Given the description of an element on the screen output the (x, y) to click on. 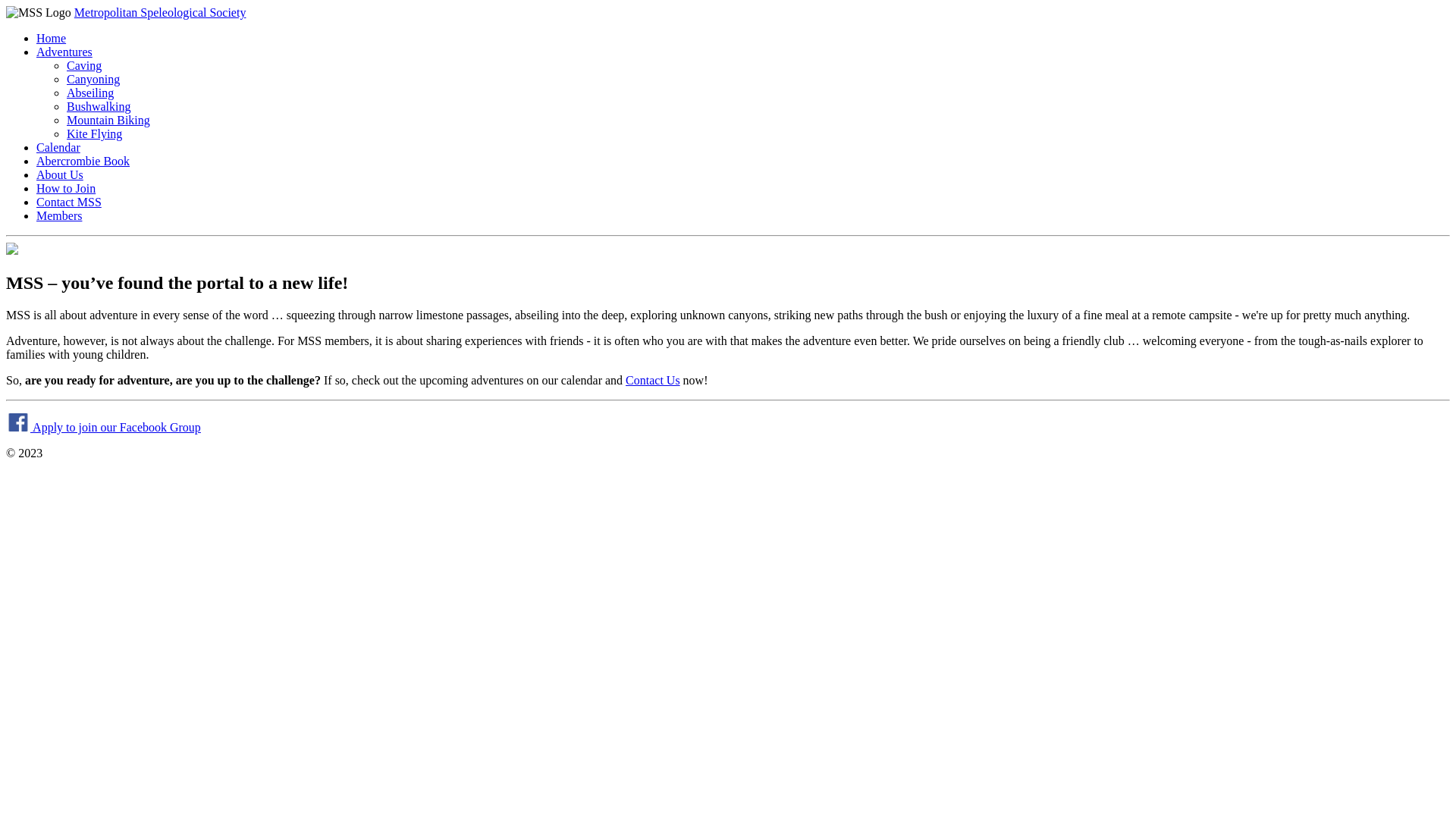
Contact Us Element type: text (652, 746)
How to Join Element type: text (65, 188)
Calendar Element type: text (58, 147)
Abercrombie Book Element type: text (82, 160)
About Us Element type: text (59, 174)
Abseiling Element type: text (89, 92)
Metropolitan Speleological Society Element type: text (160, 12)
Contact MSS Element type: text (68, 201)
Canyoning Element type: text (92, 78)
Kite Flying Element type: text (94, 133)
Apply to join our Facebook Group Element type: text (103, 793)
Bushwalking Element type: text (98, 106)
Mountain Biking Element type: text (108, 119)
Home Element type: text (50, 37)
Members Element type: text (58, 215)
Caving Element type: text (83, 65)
Adventures Element type: text (64, 51)
